Given the description of an element on the screen output the (x, y) to click on. 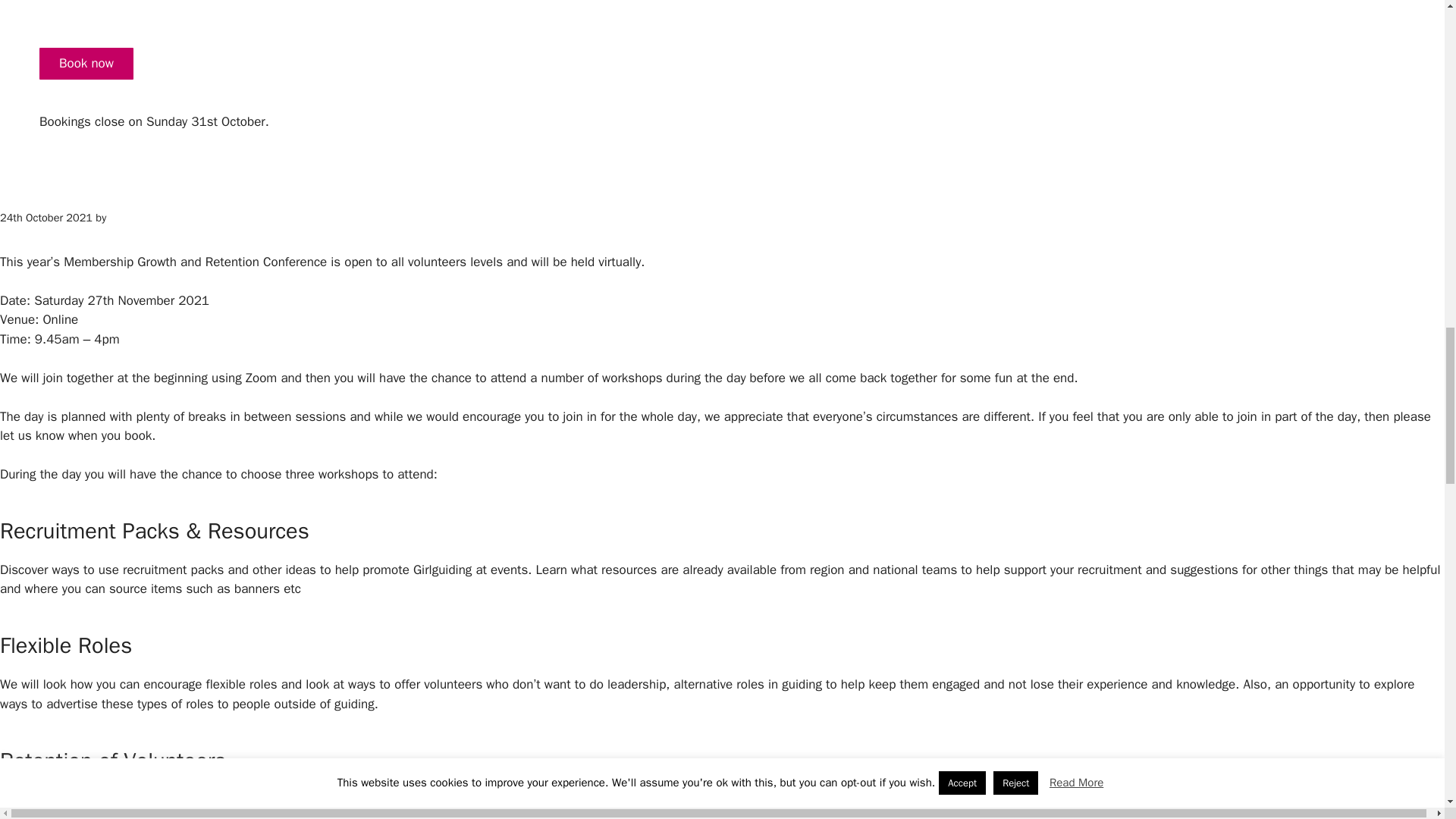
Book now (86, 63)
